Given the description of an element on the screen output the (x, y) to click on. 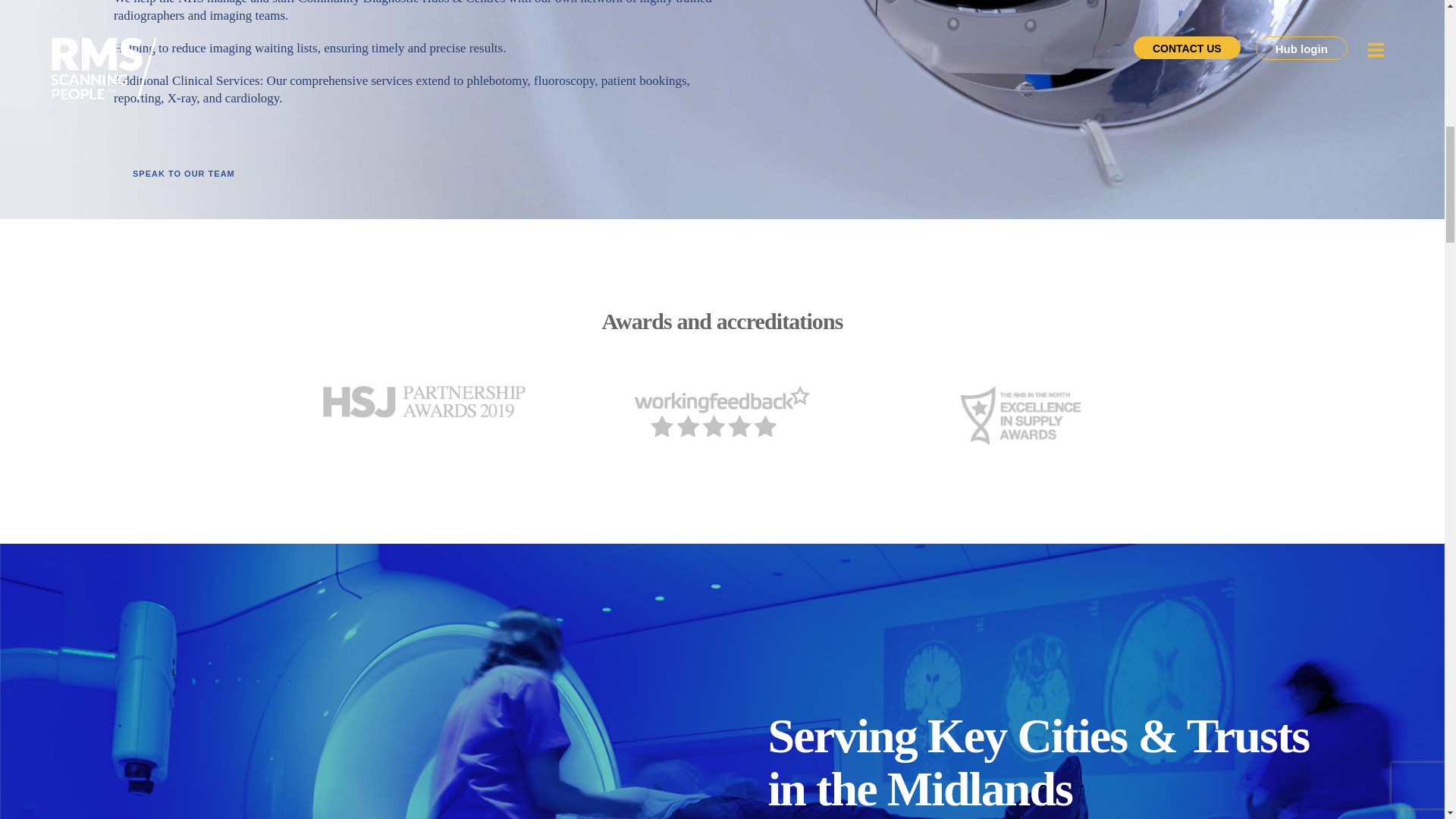
SPEAK TO OUR TEAM (183, 173)
Excellence In Supply Awards (1020, 415)
Asset 3 (721, 411)
Asset 2 (423, 402)
